Given the description of an element on the screen output the (x, y) to click on. 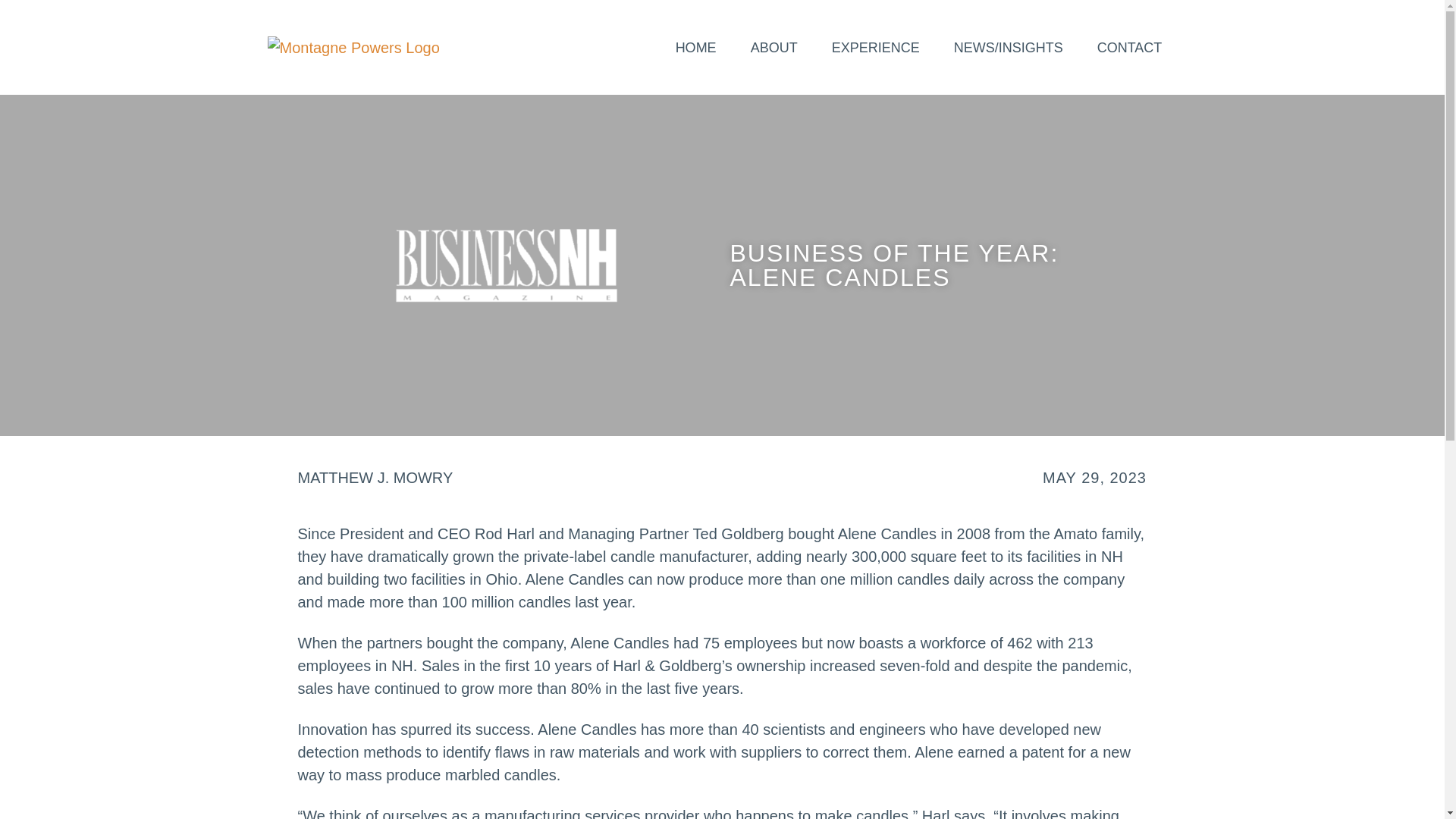
Montagne Powers (352, 47)
CONTACT (1129, 47)
ABOUT (773, 47)
HOME (696, 47)
EXPERIENCE (875, 47)
